Given the description of an element on the screen output the (x, y) to click on. 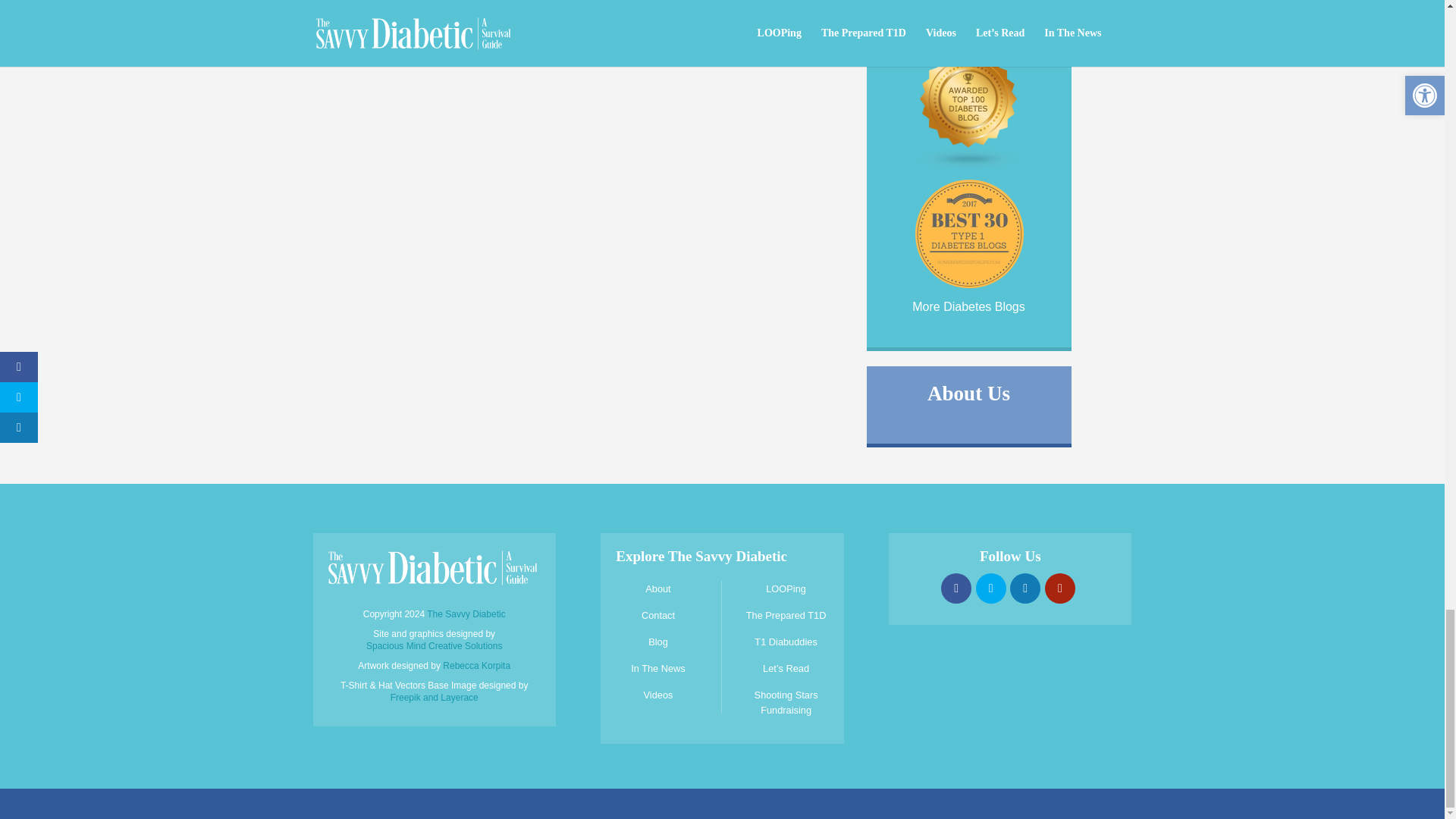
Submit Comment (399, 19)
Diabetes blogs (968, 164)
HomeRemediesForLife.com Best Blog 2017 (968, 286)
Submit Comment (399, 19)
